Given the description of an element on the screen output the (x, y) to click on. 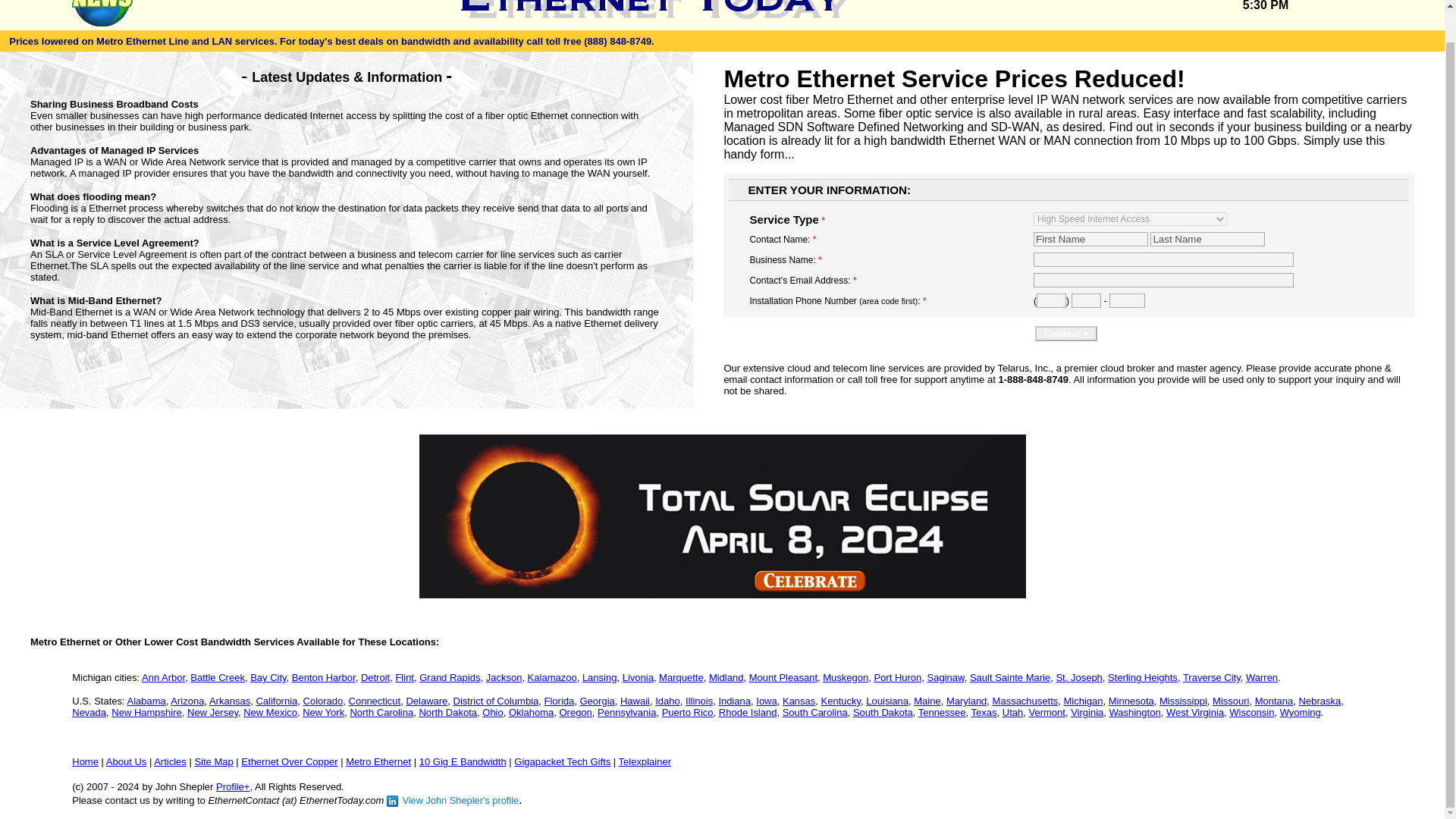
Florida (559, 700)
Midland (726, 677)
Marquette (681, 677)
Idaho (667, 700)
Sterling Heights (1142, 677)
Colorado (322, 700)
Traverse City (1211, 677)
Saginaw (945, 677)
Mount Pleasant (782, 677)
Arkansas (229, 700)
